Given the description of an element on the screen output the (x, y) to click on. 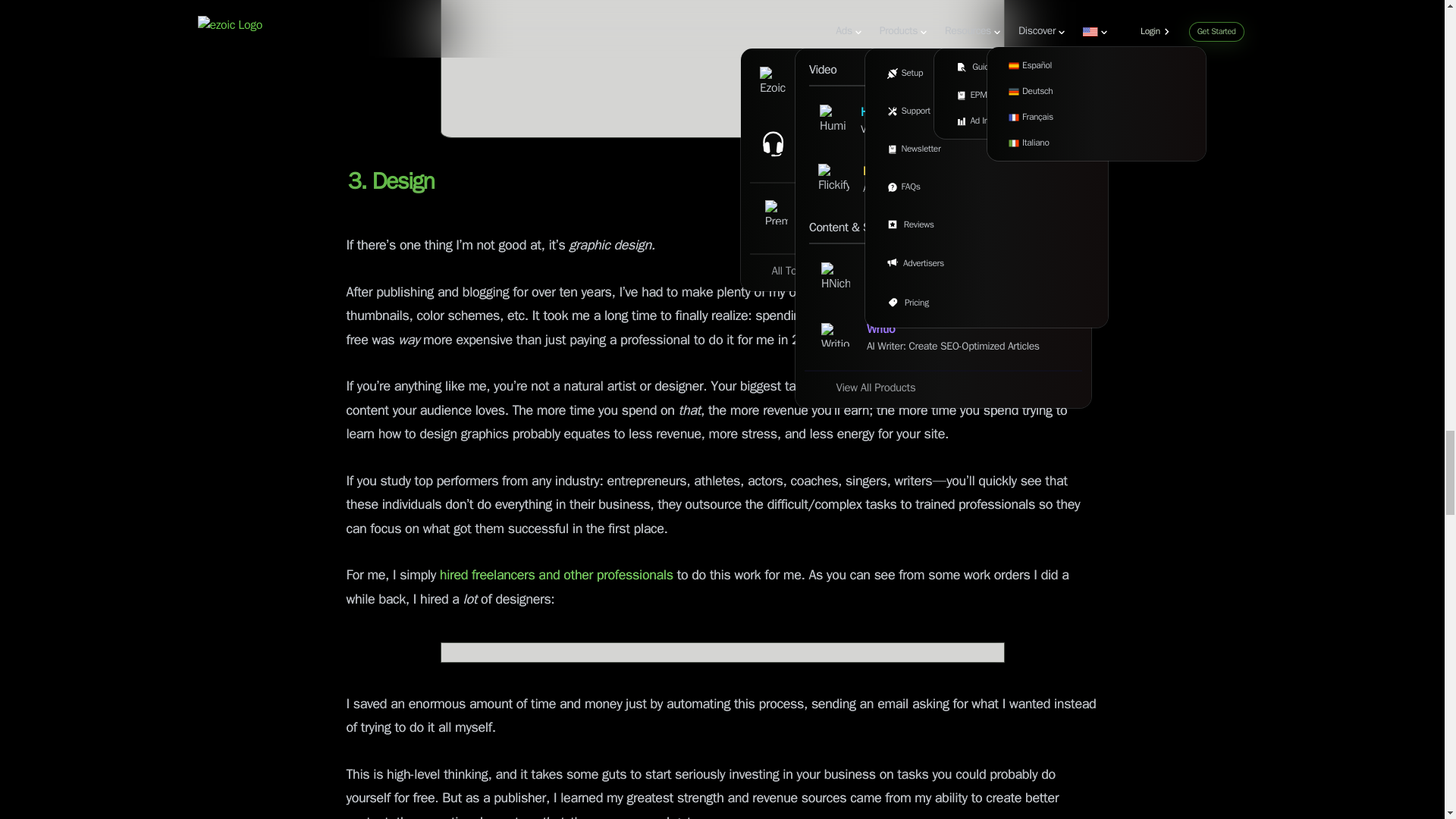
hired freelancers and other professionals (553, 575)
